Given the description of an element on the screen output the (x, y) to click on. 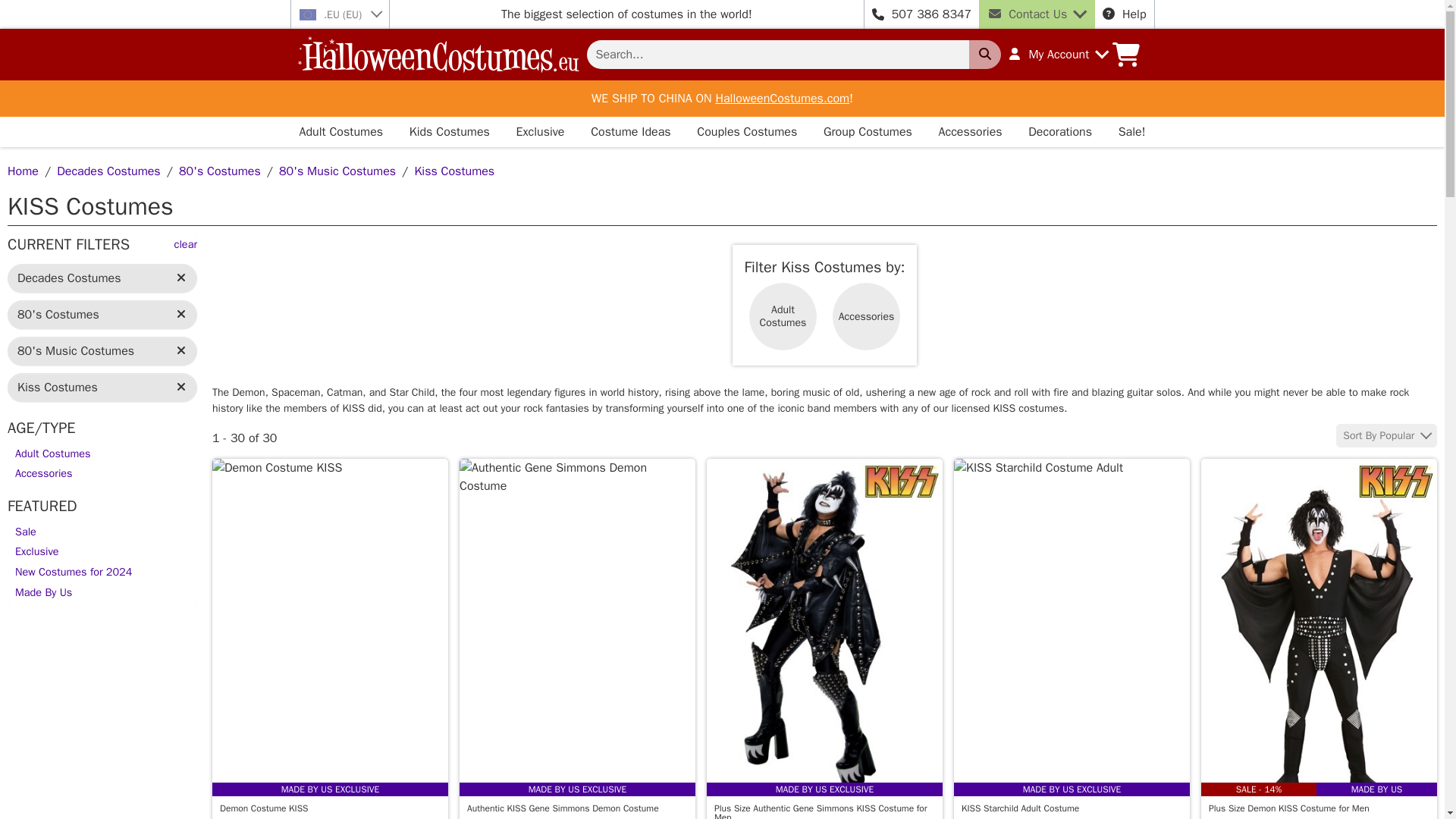
Kids Costumes (449, 132)
HalloweenCostumes.com (781, 98)
Help (1124, 13)
Adult Costumes (340, 132)
My Account (1057, 54)
Contact Us (1036, 14)
507 386 8347 (931, 13)
